Given the description of an element on the screen output the (x, y) to click on. 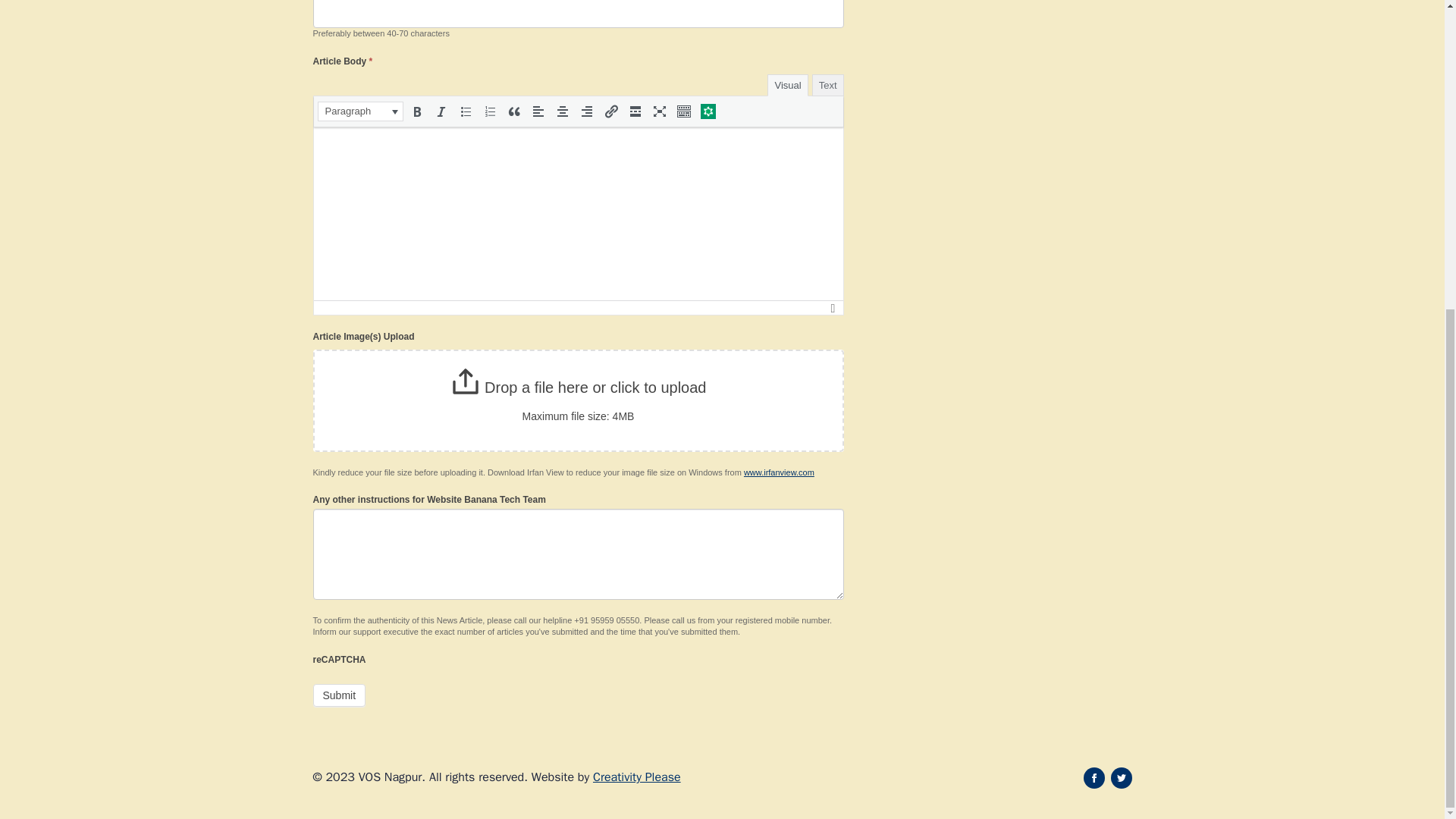
Rich Text Area. Press Alt-Shift-H for help. (578, 213)
Submit (339, 694)
Digital Made Simple - click to know more (636, 776)
